Given the description of an element on the screen output the (x, y) to click on. 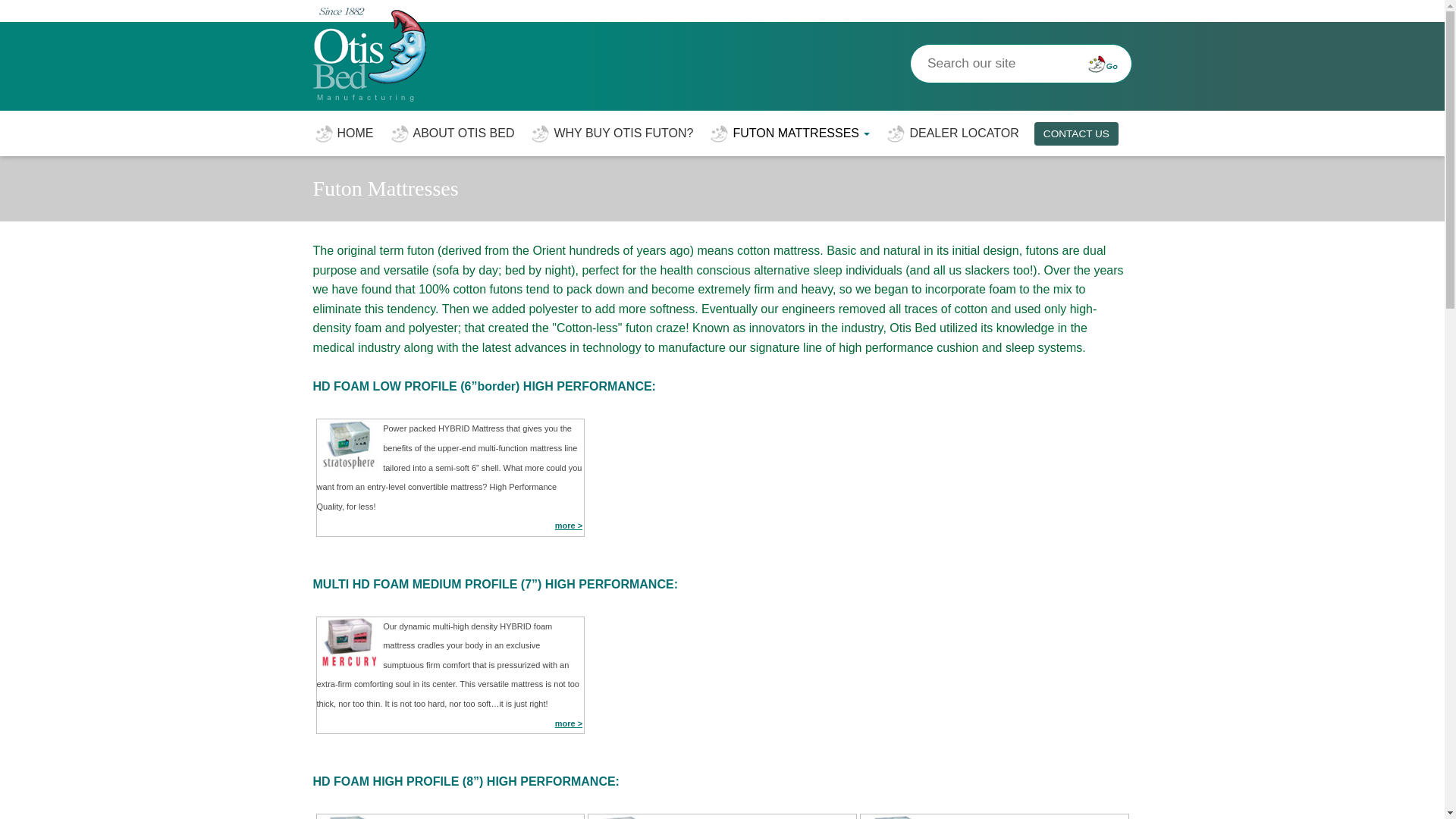
CONTACT US (1075, 133)
FUTON MATTRESSES (788, 133)
HOME (342, 133)
DEALER LOCATOR (951, 133)
ABOUT OTIS BED (450, 133)
WHY BUY OTIS FUTON? (611, 133)
